Given the description of an element on the screen output the (x, y) to click on. 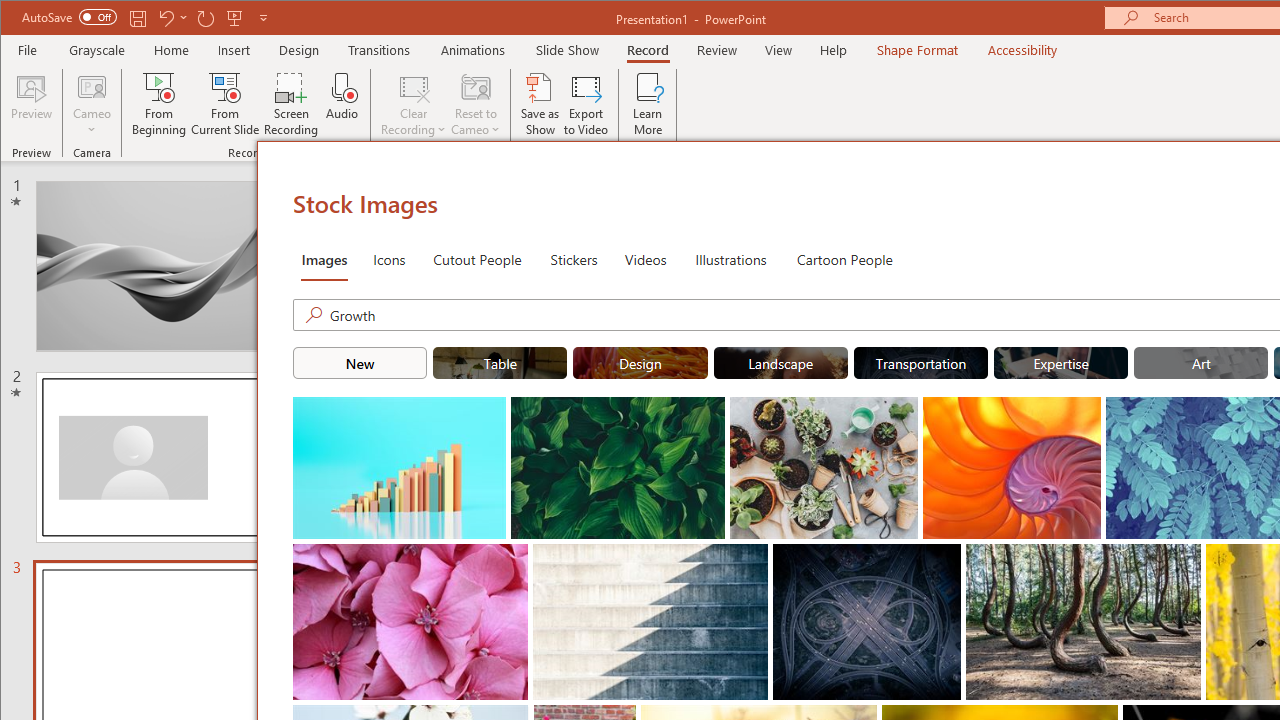
Screen Recording (291, 104)
AutoSave (68, 16)
From Beginning (235, 17)
Cutout People (477, 258)
Accessibility (1023, 50)
More Options (91, 123)
"Design" Stock Images. (640, 362)
"New" Stock Images. (360, 362)
Reset to Cameo (476, 104)
Images (324, 258)
